Given the description of an element on the screen output the (x, y) to click on. 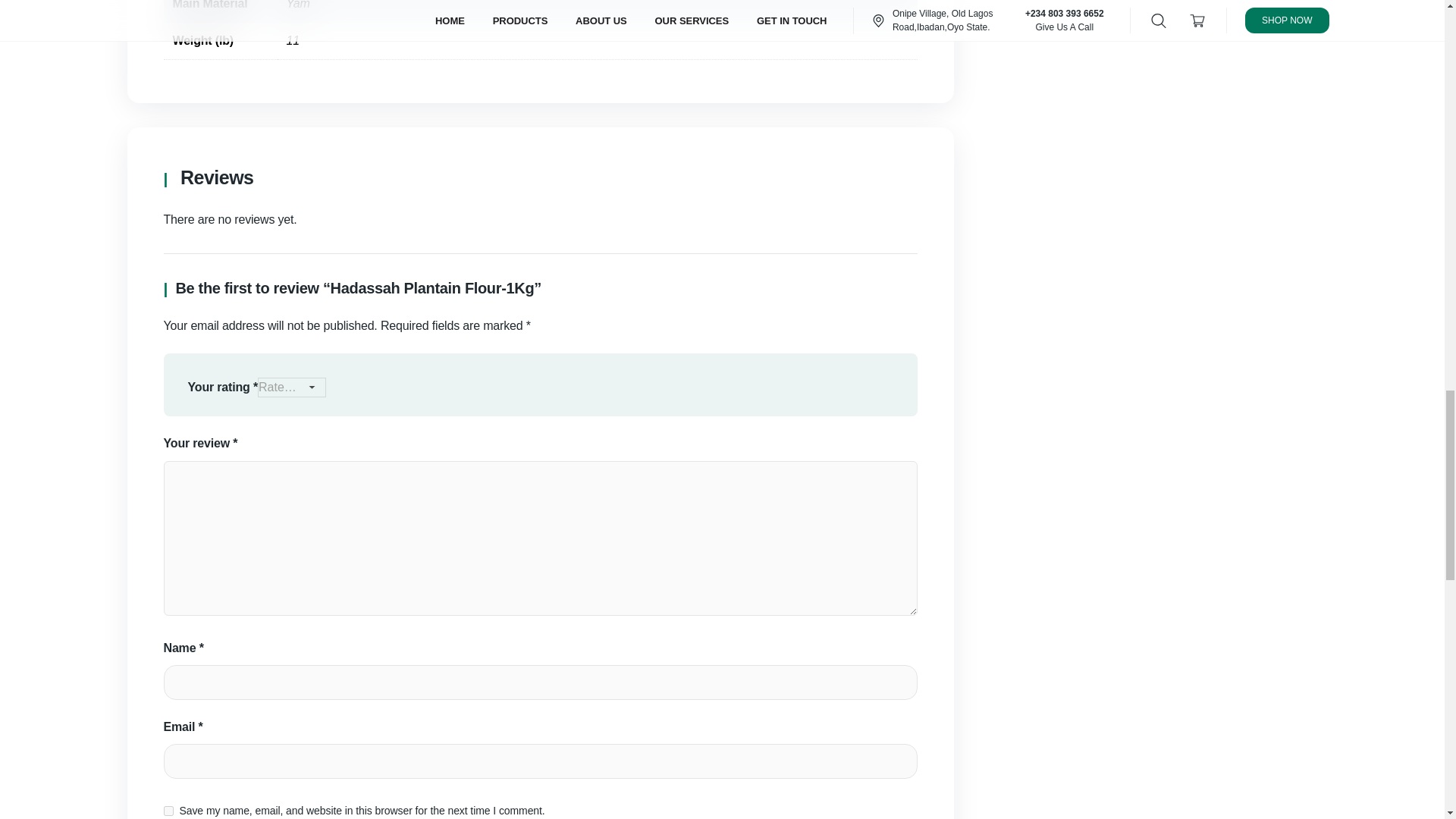
yes (168, 810)
